Given the description of an element on the screen output the (x, y) to click on. 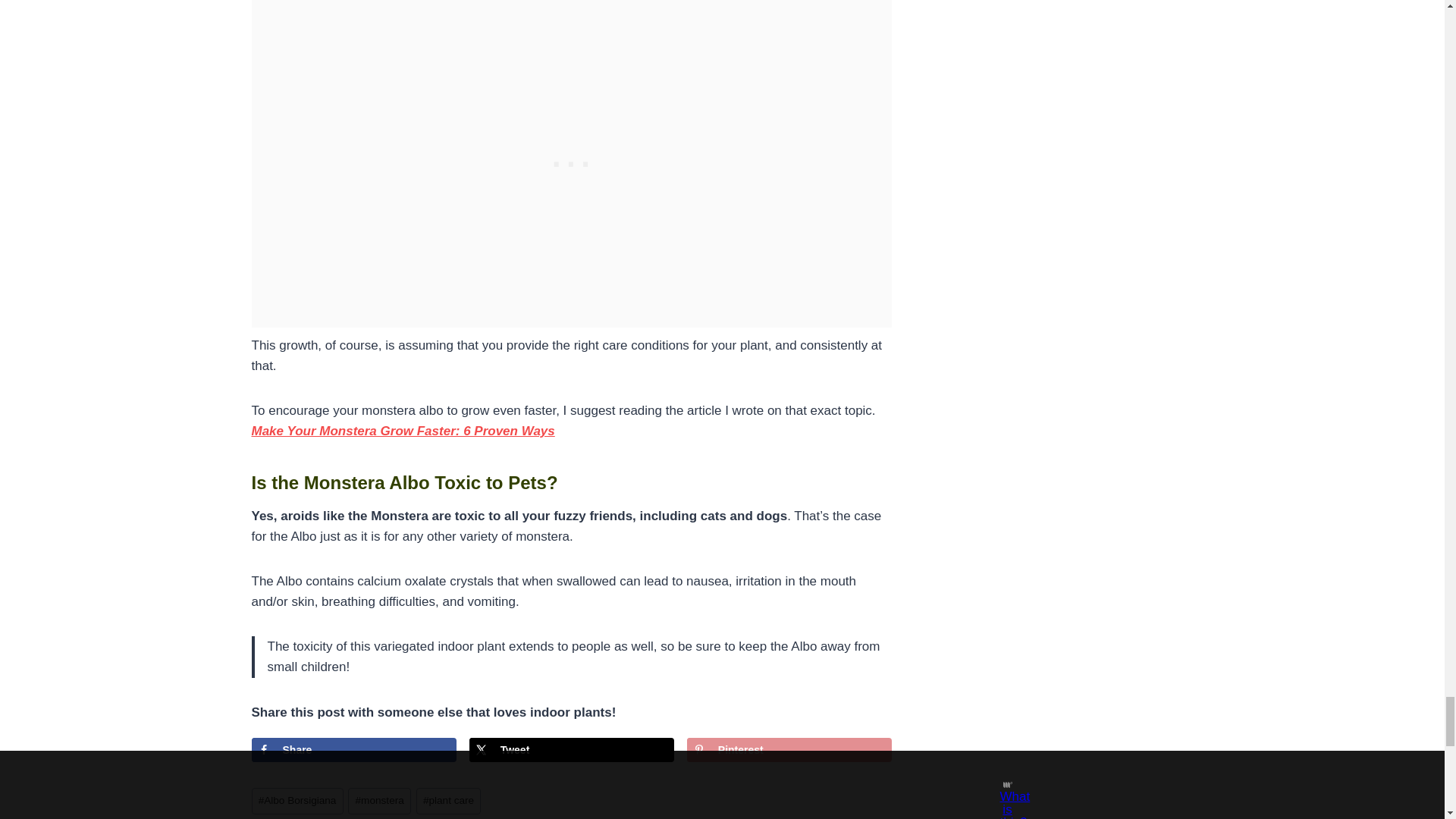
Tweet (571, 749)
plant care (448, 800)
Pinterest (789, 749)
Share on Facebook (354, 749)
Albo Borsigiana (297, 800)
Share (354, 749)
Share on X (571, 749)
monstera (378, 800)
Make Your Monstera Grow Faster: 6 Proven Ways (402, 431)
Save to Pinterest (789, 749)
